Given the description of an element on the screen output the (x, y) to click on. 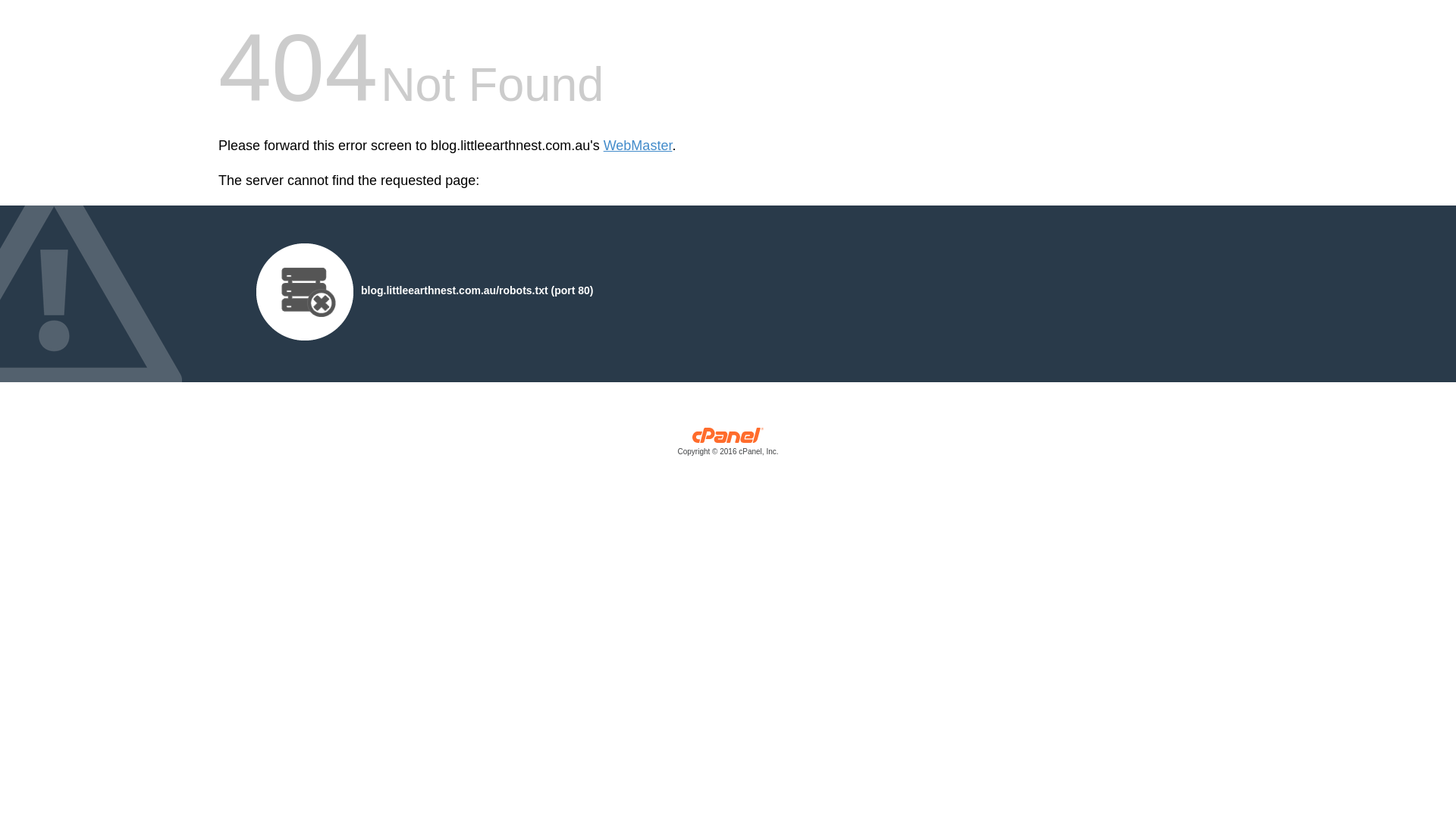
WebMaster Element type: text (637, 145)
